Given the description of an element on the screen output the (x, y) to click on. 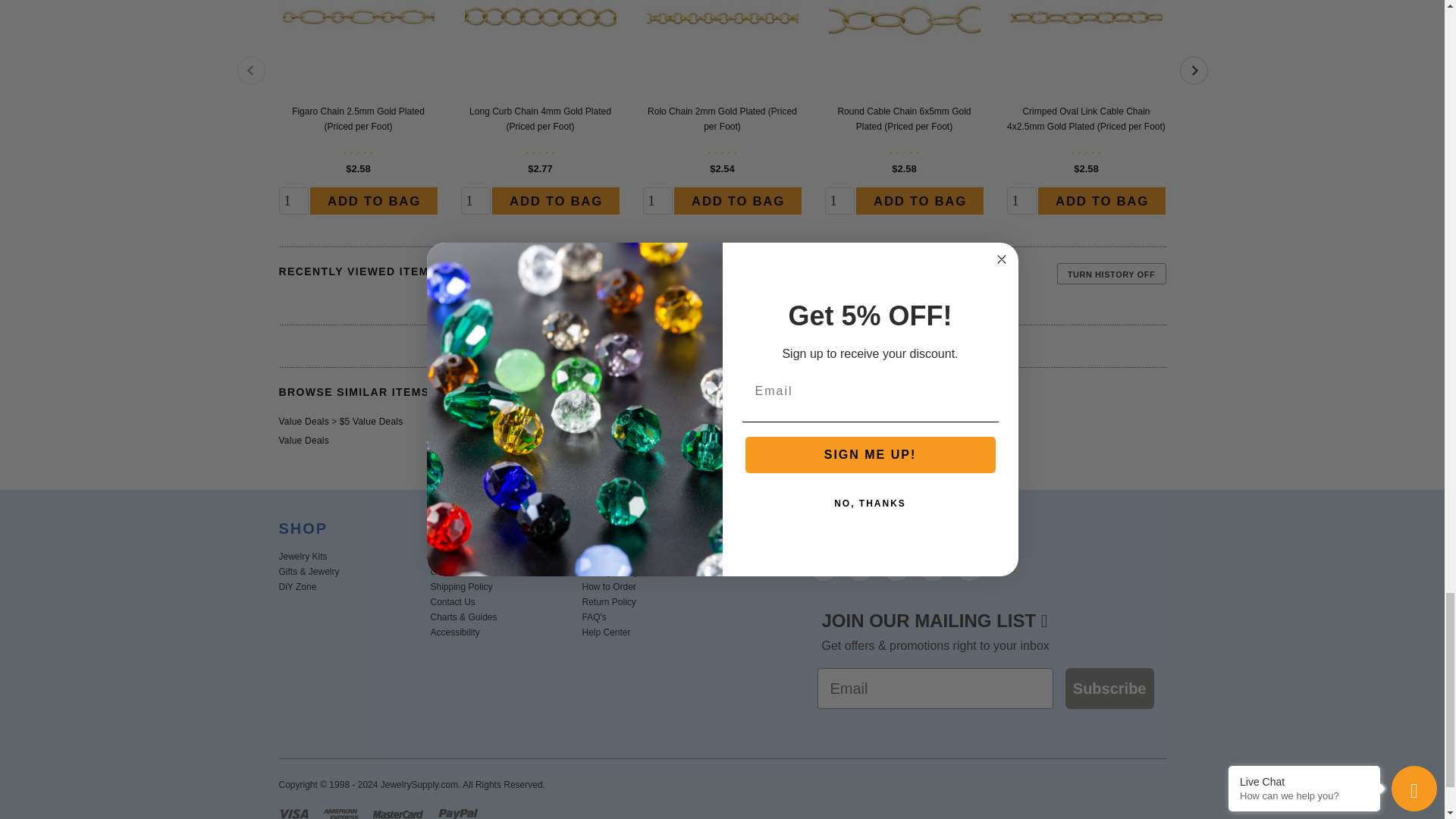
1 (840, 200)
1 (657, 200)
1 (293, 200)
Like Us on Facebook (823, 566)
Follow Us on Twitter (859, 566)
1 (476, 200)
